Given the description of an element on the screen output the (x, y) to click on. 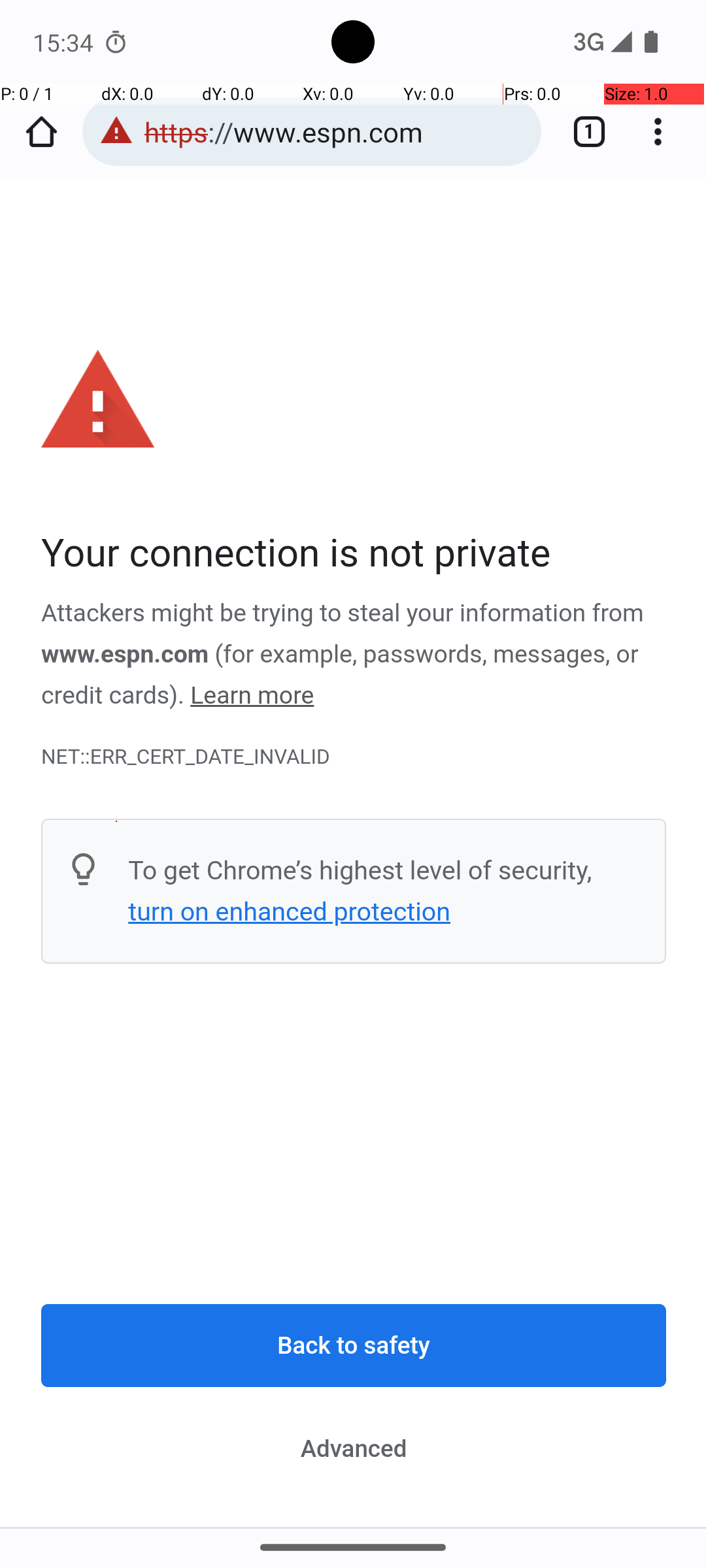
https://www.espn.com Element type: android.widget.EditText (335, 131)
www.espn.com Element type: android.widget.TextView (125, 653)
